Given the description of an element on the screen output the (x, y) to click on. 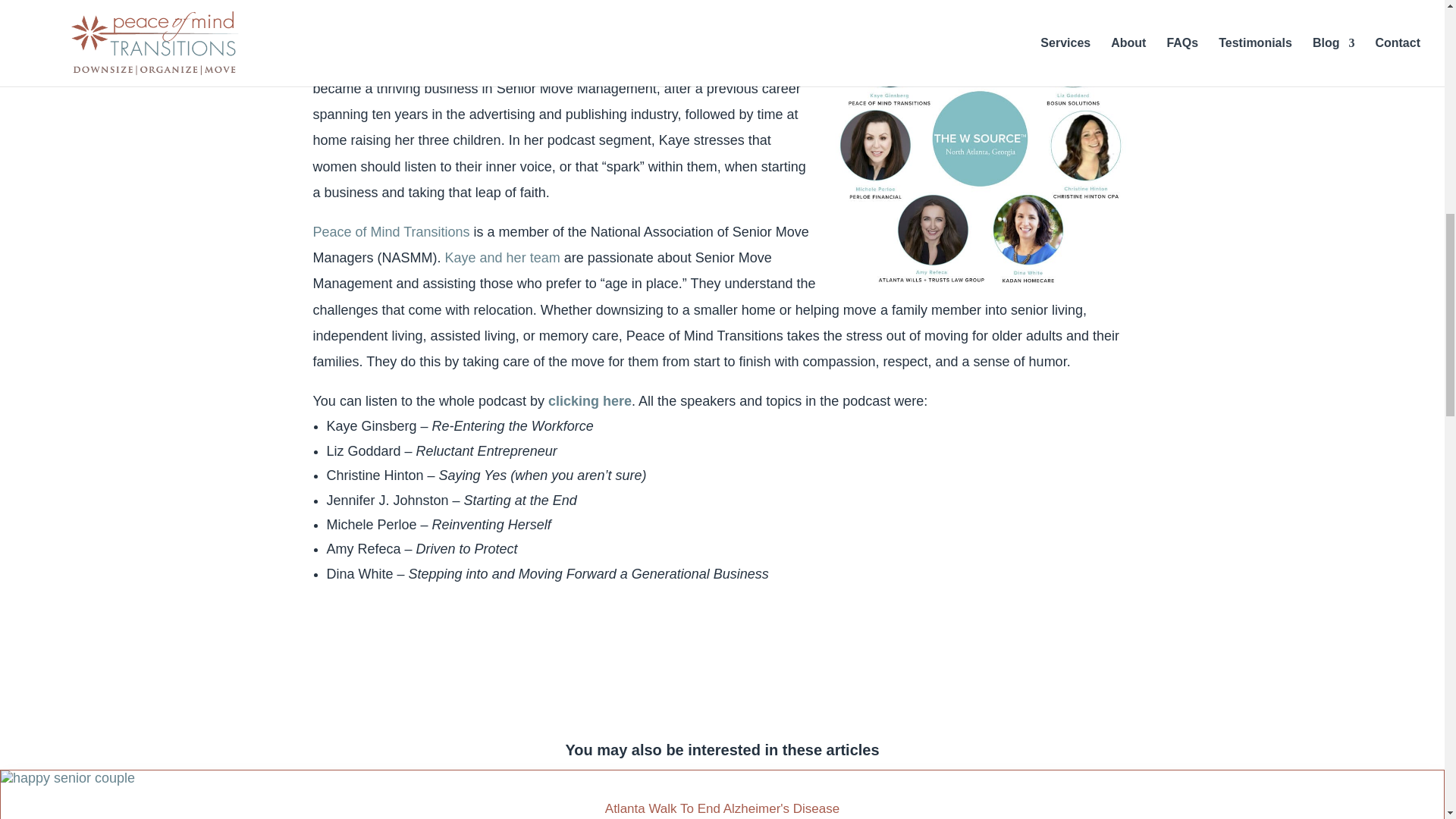
Peace of Mind Transitions (390, 231)
clicking here (589, 400)
Kaye and her team (502, 257)
